Given the description of an element on the screen output the (x, y) to click on. 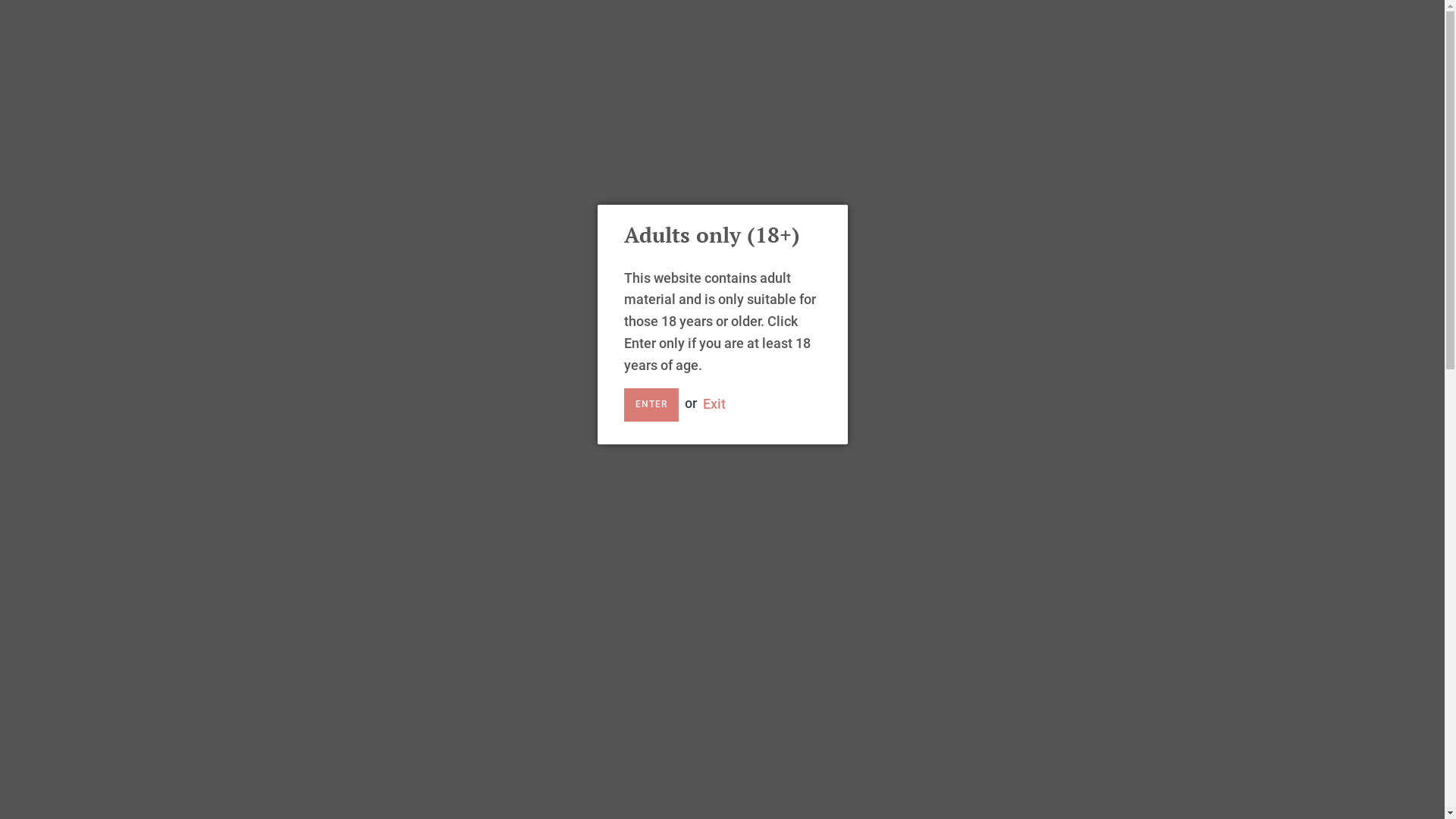
Cart (0) Element type: text (1082, 23)
ENTER Element type: text (650, 404)
Log in Element type: text (465, 23)
Toggle menu Element type: hover (423, 352)
Tweet
Tweet on Twitter Element type: text (915, 574)
Toggle menu Element type: hover (423, 683)
DIY Element type: text (352, 600)
Sign up Element type: text (518, 23)
Check Out Element type: text (1157, 23)
Accessories Element type: text (352, 559)
Mods Element type: text (352, 476)
Toggle menu Element type: hover (423, 518)
Batteries & Chargers Element type: text (352, 641)
SOLD OUT Element type: text (873, 522)
Toggle menu Element type: hover (423, 434)
RDA's, RTA's & Acc. Element type: text (352, 683)
Tanks, Pods & Coils Element type: text (352, 434)
Toggle menu Element type: hover (423, 393)
Pin it
Pin on Pinterest Element type: text (962, 574)
Toggle menu Element type: hover (423, 559)
Search Element type: text (271, 23)
Bargain Bin Element type: text (352, 766)
Starter Kits Element type: text (352, 318)
Herbal Heavan Element type: text (352, 517)
Horizon Sakerz Coil - 3pk Element type: text (189, 769)
Home Element type: text (486, 358)
Coming Soon Element type: text (352, 725)
Exit Element type: text (713, 403)
E-Liquid Element type: text (352, 359)
Share
Share on Facebook Element type: text (862, 574)
